Given the description of an element on the screen output the (x, y) to click on. 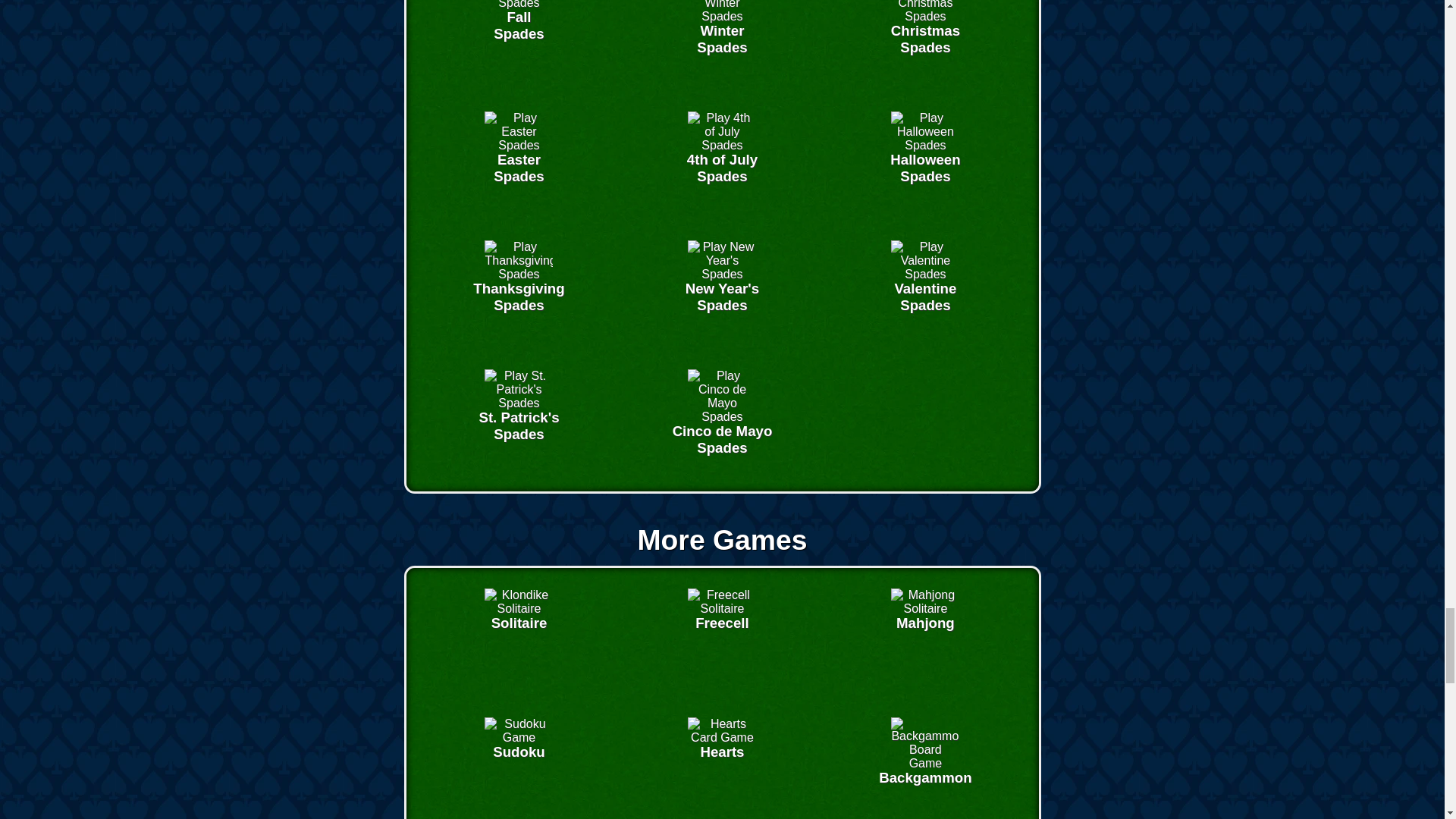
Sudoku (721, 144)
Backgammon (518, 737)
Freecell (925, 273)
Solitaire (721, 273)
